Given the description of an element on the screen output the (x, y) to click on. 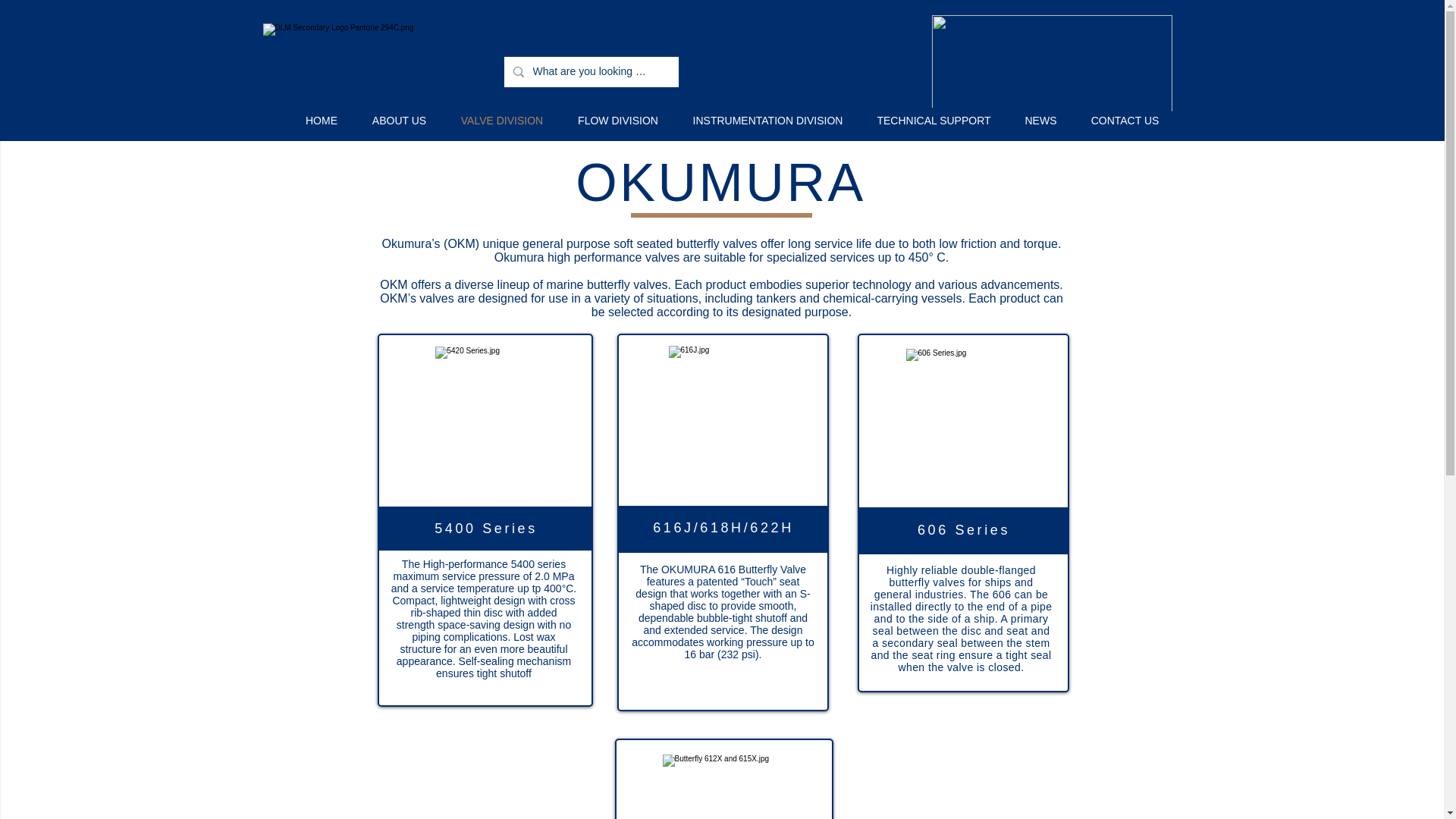
VALVE DIVISION (500, 120)
ABOUT US (399, 120)
HOME (320, 120)
FLOW DIVISION (617, 120)
Baobab Secondary Logo A Member Of Option (1051, 63)
